Given the description of an element on the screen output the (x, y) to click on. 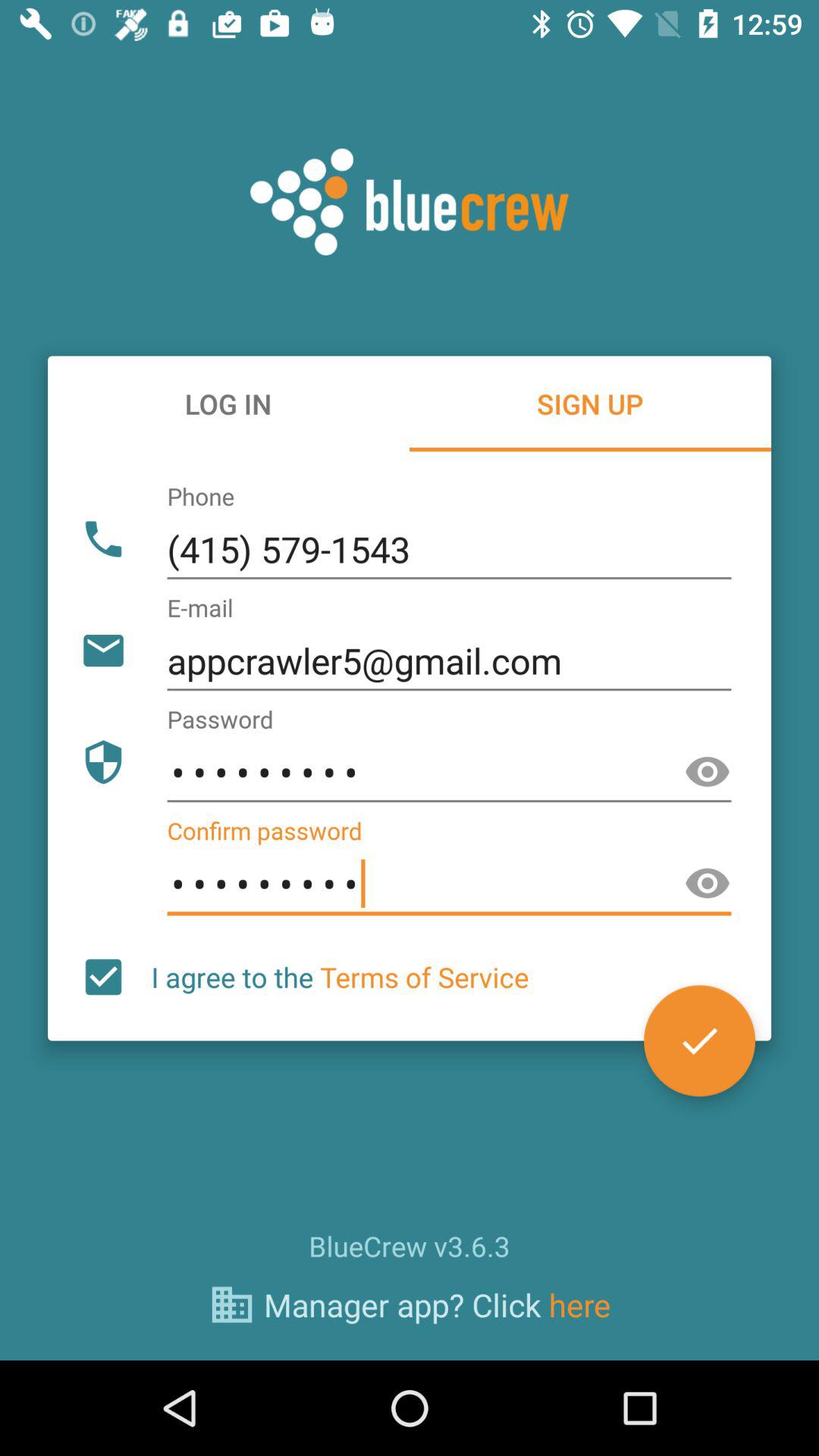
choose the item to the right of i agree to item (699, 1040)
